Given the description of an element on the screen output the (x, y) to click on. 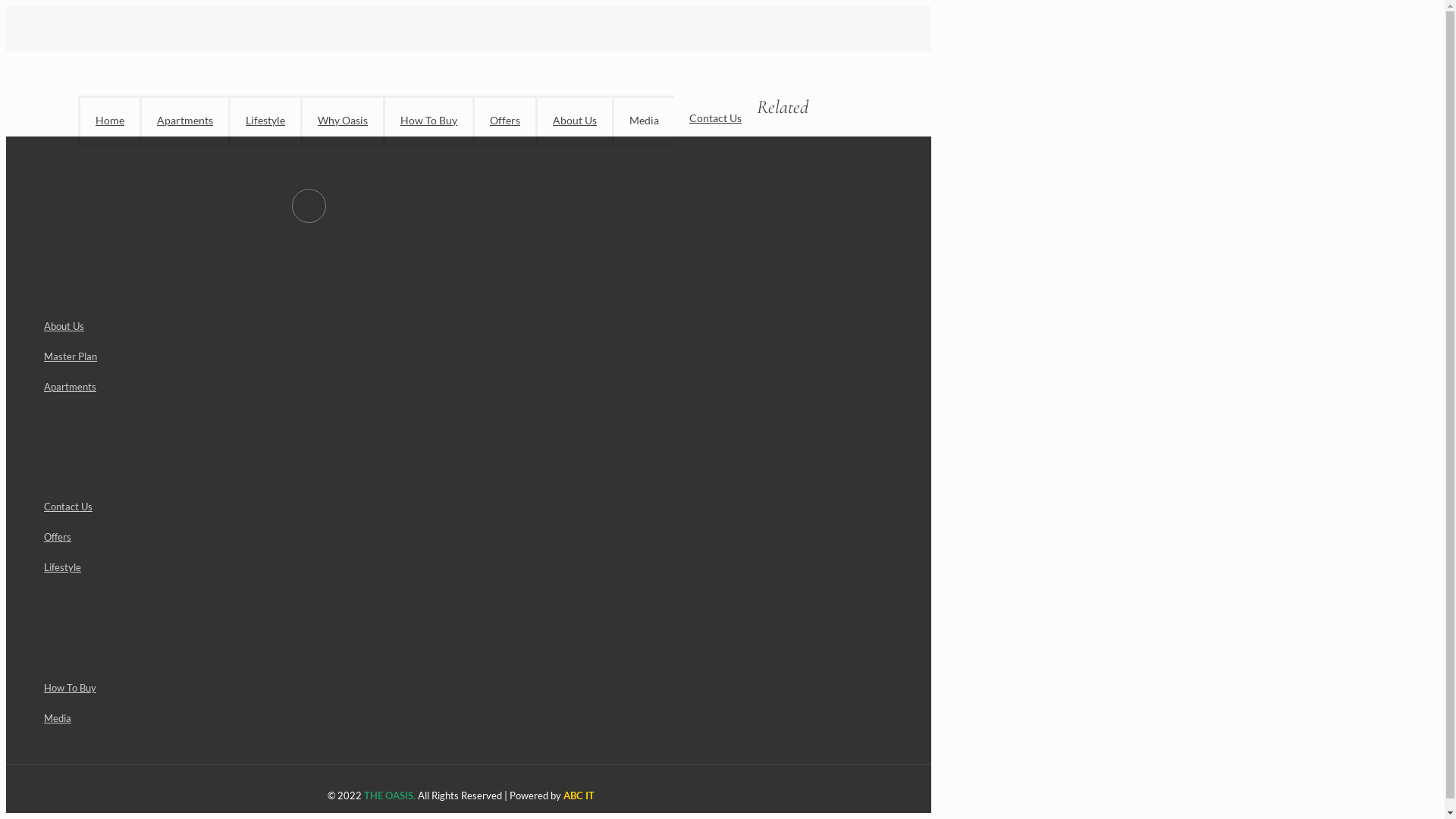
About Us Element type: text (573, 120)
Media Element type: text (476, 718)
Lifestyle Element type: text (476, 567)
How To Buy Element type: text (476, 687)
Home Element type: text (108, 120)
How To Buy Element type: text (427, 120)
Lifestyle Element type: text (264, 120)
Apartments Element type: text (183, 120)
Why Oasis Element type: text (341, 120)
Contact Us Element type: text (715, 118)
Master Plan Element type: text (476, 356)
THE OASIS. Element type: text (389, 795)
Media Element type: text (642, 120)
Offers Element type: text (503, 120)
About Us Element type: text (476, 326)
ABC IT Element type: text (578, 795)
Apartments Element type: text (476, 386)
Contact Us Element type: text (476, 506)
Offers Element type: text (476, 537)
The Oasis Element type: hover (48, 40)
icons8-phone-16 Element type: text (878, 197)
Home Element type: text (813, 197)
